Given the description of an element on the screen output the (x, y) to click on. 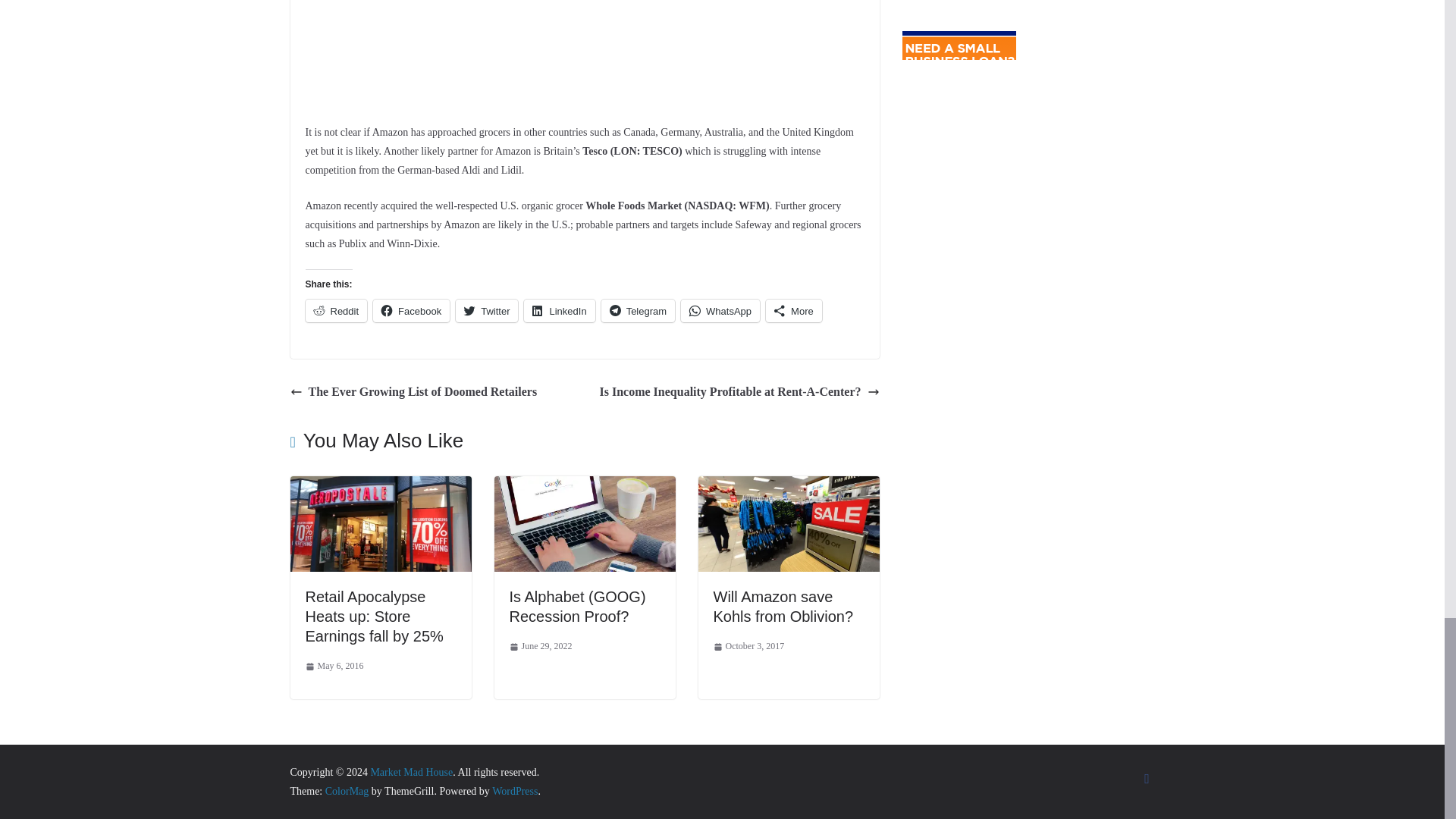
9:54 pm (333, 666)
Facebook (410, 309)
Click to share on Telegram (638, 309)
Click to share on Twitter (486, 309)
Reddit (335, 309)
Click to share on Reddit (335, 309)
Click to share on LinkedIn (559, 309)
Click to share on WhatsApp (720, 309)
LinkedIn (559, 309)
Click to share on Facebook (410, 309)
